Given the description of an element on the screen output the (x, y) to click on. 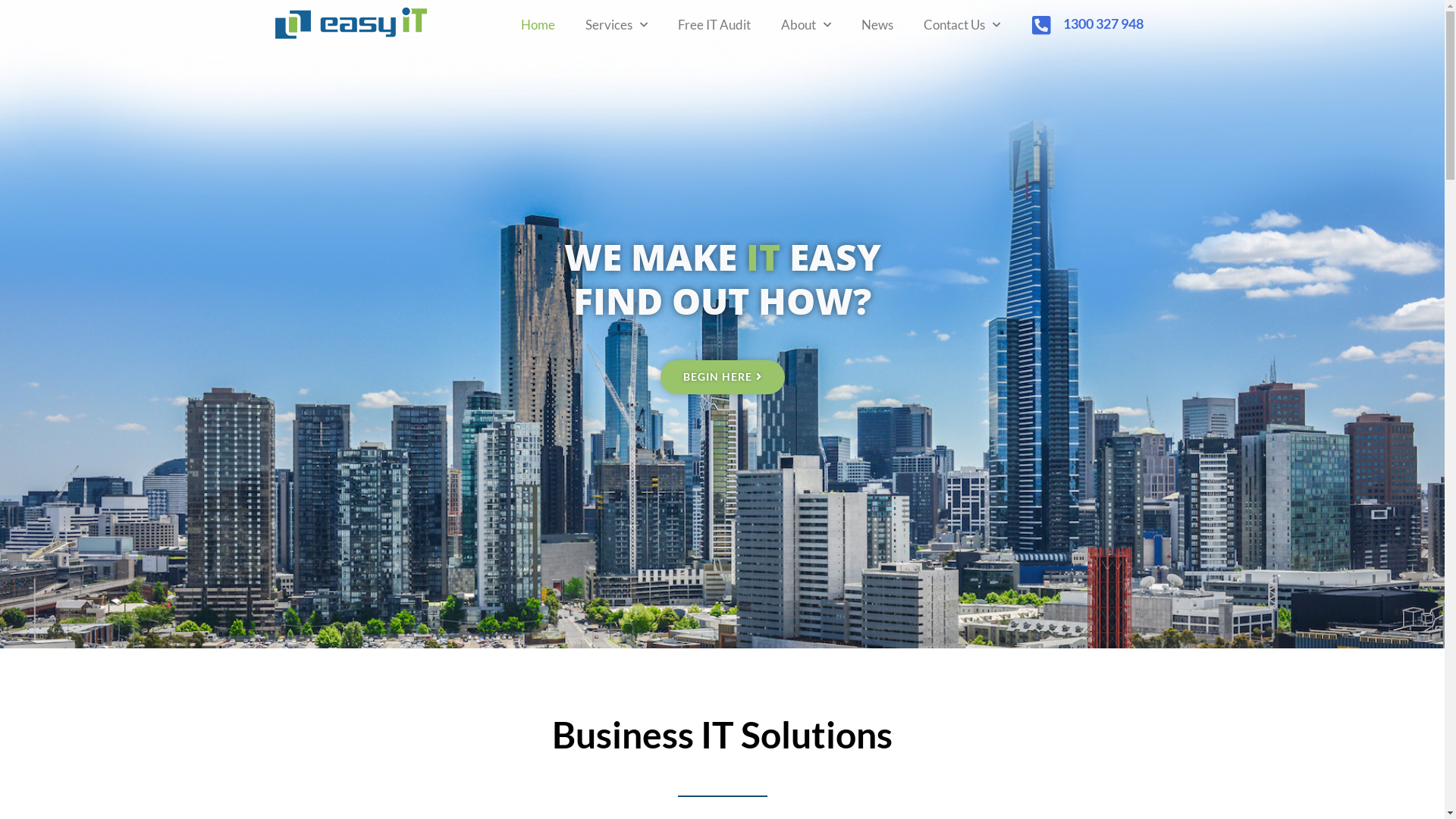
1300 327 948 Element type: text (1103, 23)
Free IT Audit Element type: text (713, 24)
Services Element type: text (616, 24)
BEGIN HERE Element type: text (721, 376)
Strokeless Logo Element type: hover (350, 22)
Home Element type: text (537, 24)
About Element type: text (805, 24)
News Element type: text (877, 24)
Contact Us Element type: text (961, 24)
